Given the description of an element on the screen output the (x, y) to click on. 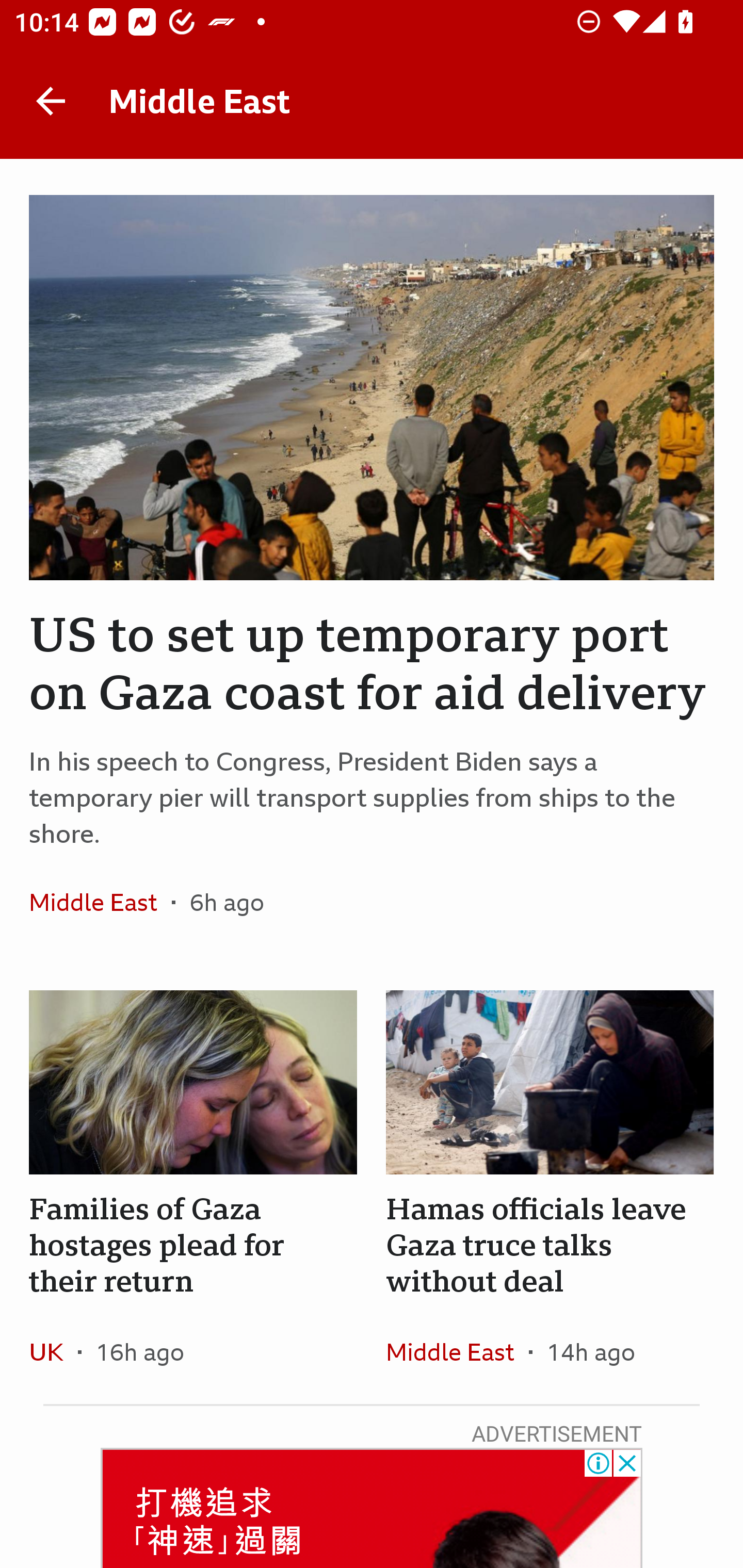
Back (50, 101)
Middle East In the section Middle East (99, 901)
UK In the section UK (53, 1351)
Middle East In the section Middle East (457, 1351)
